Given the description of an element on the screen output the (x, y) to click on. 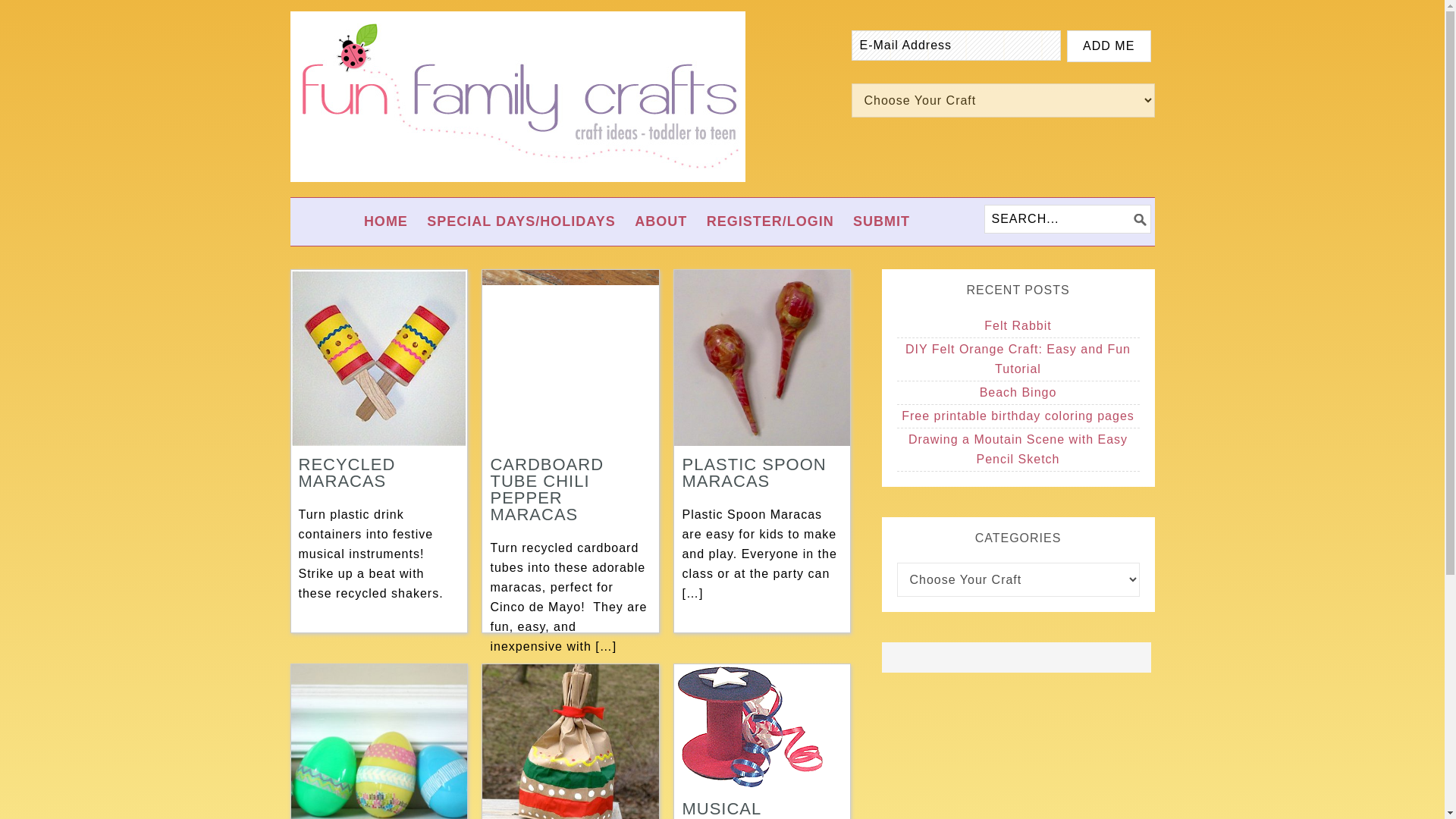
Beach Bingo (1018, 391)
CARDBOARD TUBE CHILI PEPPER MARACAS (546, 489)
Felt Rabbit (1017, 325)
Drawing a Moutain Scene with Easy Pencil Sketch (1017, 449)
Free printable birthday coloring pages (1017, 415)
Add Me (1109, 46)
ABOUT (660, 221)
FUN FAMILY CRAFTS (516, 96)
Search (1156, 210)
MUSICAL SHAKERS (724, 809)
